Given the description of an element on the screen output the (x, y) to click on. 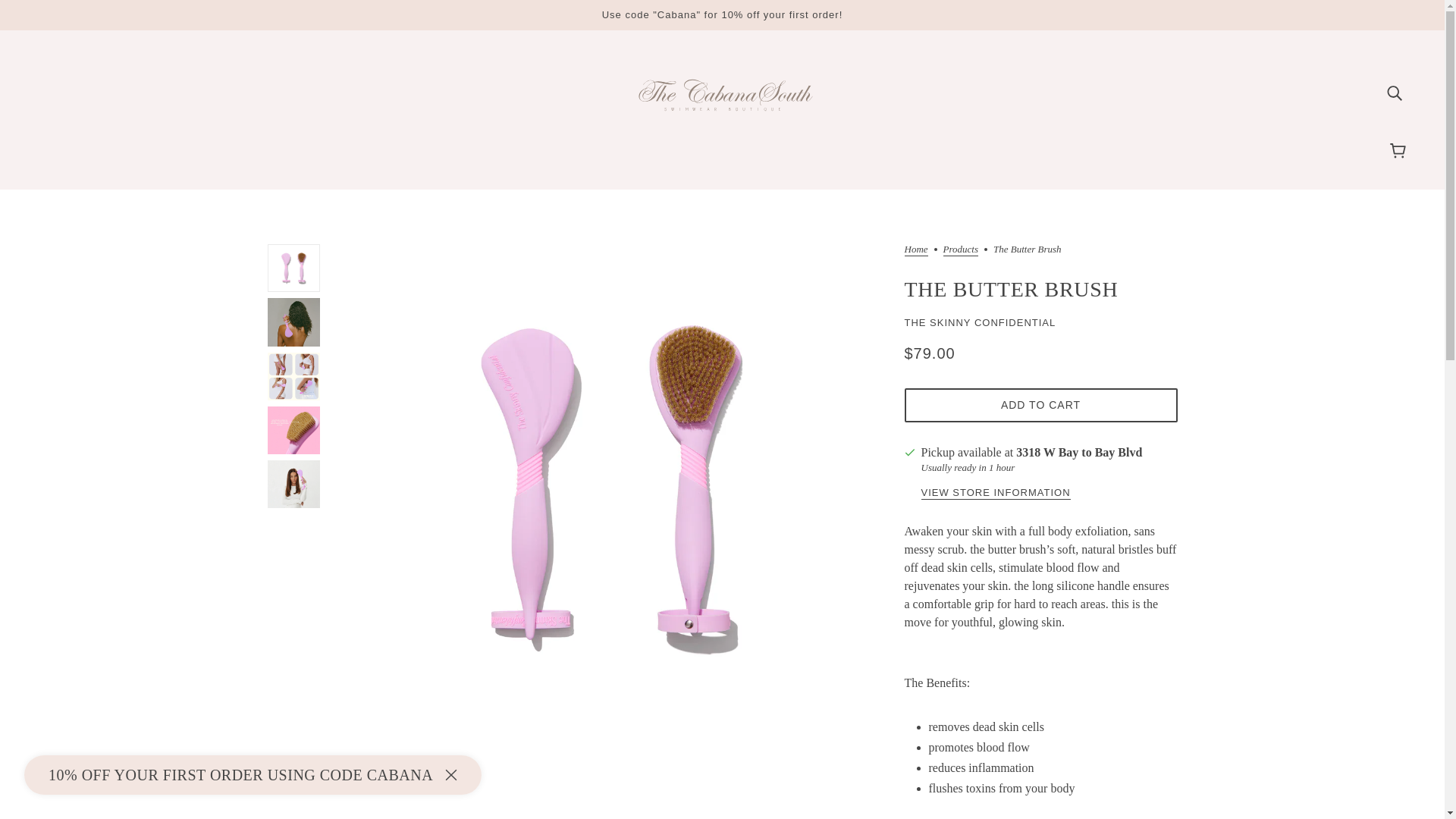
THE SKINNY CONFIDENTIAL (979, 322)
Products (960, 250)
Home (915, 250)
The Cabana South (721, 124)
ADD TO CART (1040, 405)
